Given the description of an element on the screen output the (x, y) to click on. 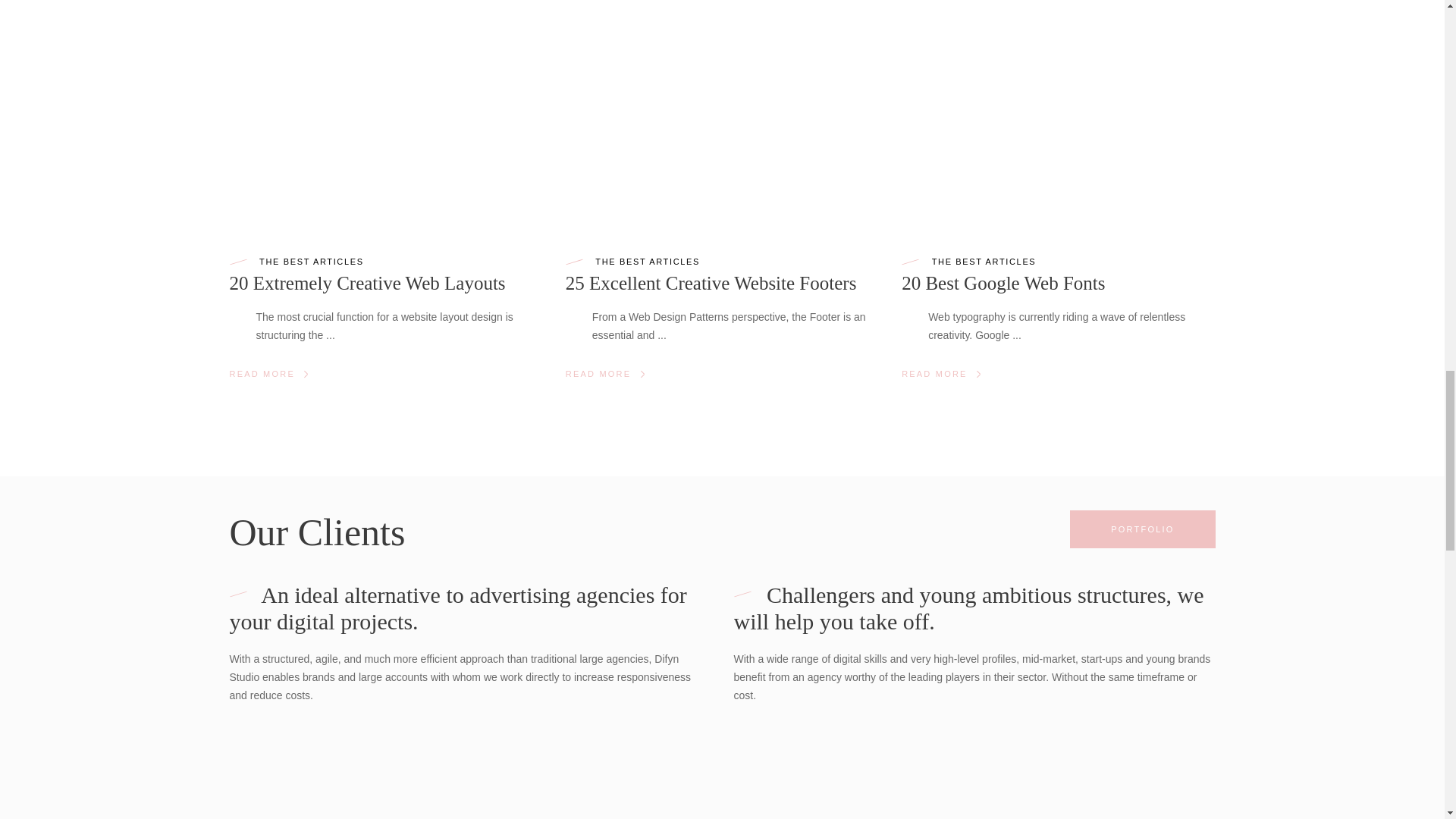
20 Extremely Creative Web Layouts (366, 282)
20 Best Google Web Fonts (1057, 114)
20 Extremely Creative Web Layouts (384, 114)
25 Excellent Creative Website Footers (722, 114)
25 Excellent Creative Website Footers (711, 282)
20 Best Google Web Fonts (1003, 282)
